Given the description of an element on the screen output the (x, y) to click on. 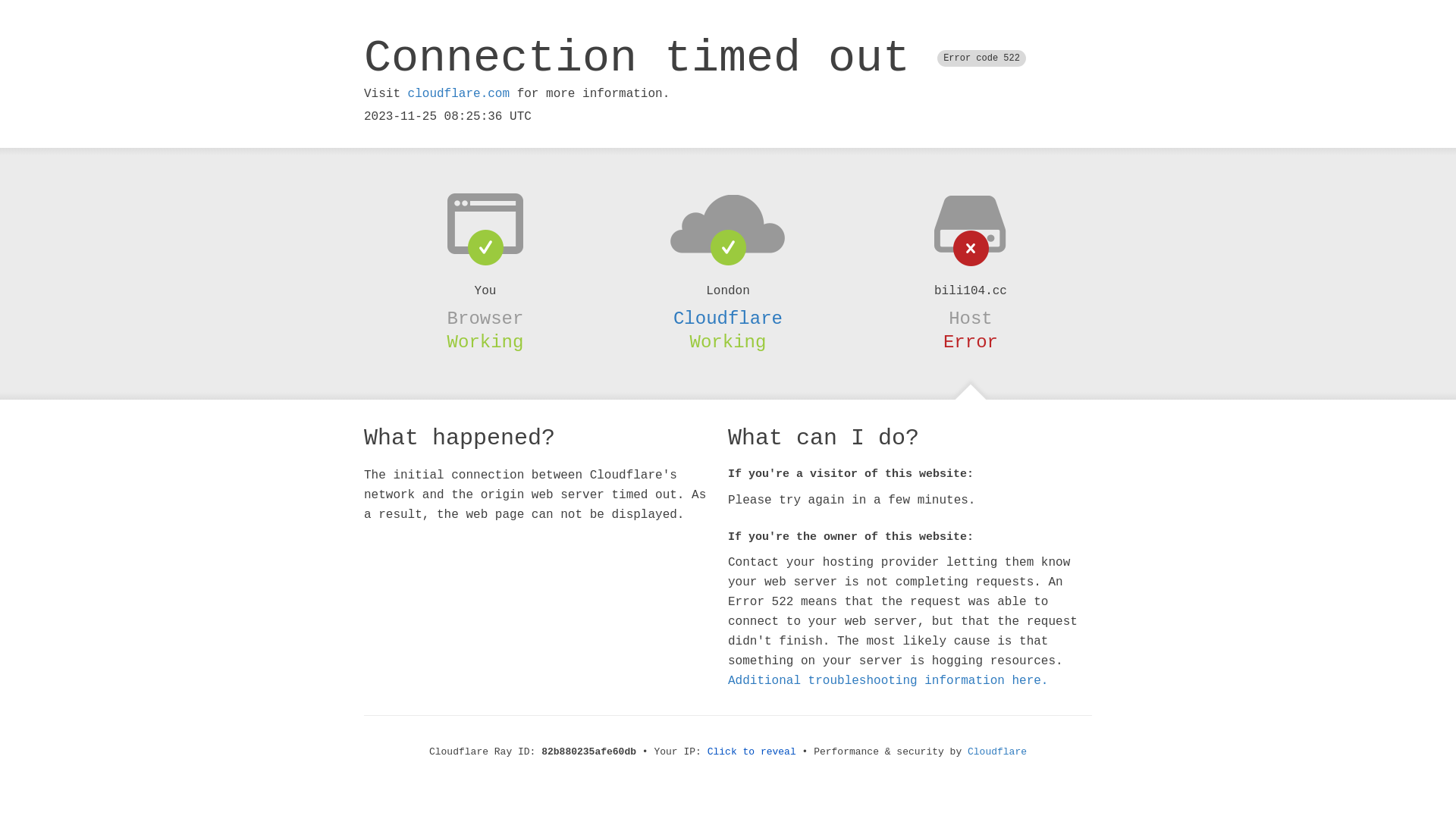
cloudflare.com Element type: text (458, 93)
Click to reveal Element type: text (751, 751)
Cloudflare Element type: text (727, 318)
Cloudflare Element type: text (996, 751)
Additional troubleshooting information here. Element type: text (888, 680)
